Given the description of an element on the screen output the (x, y) to click on. 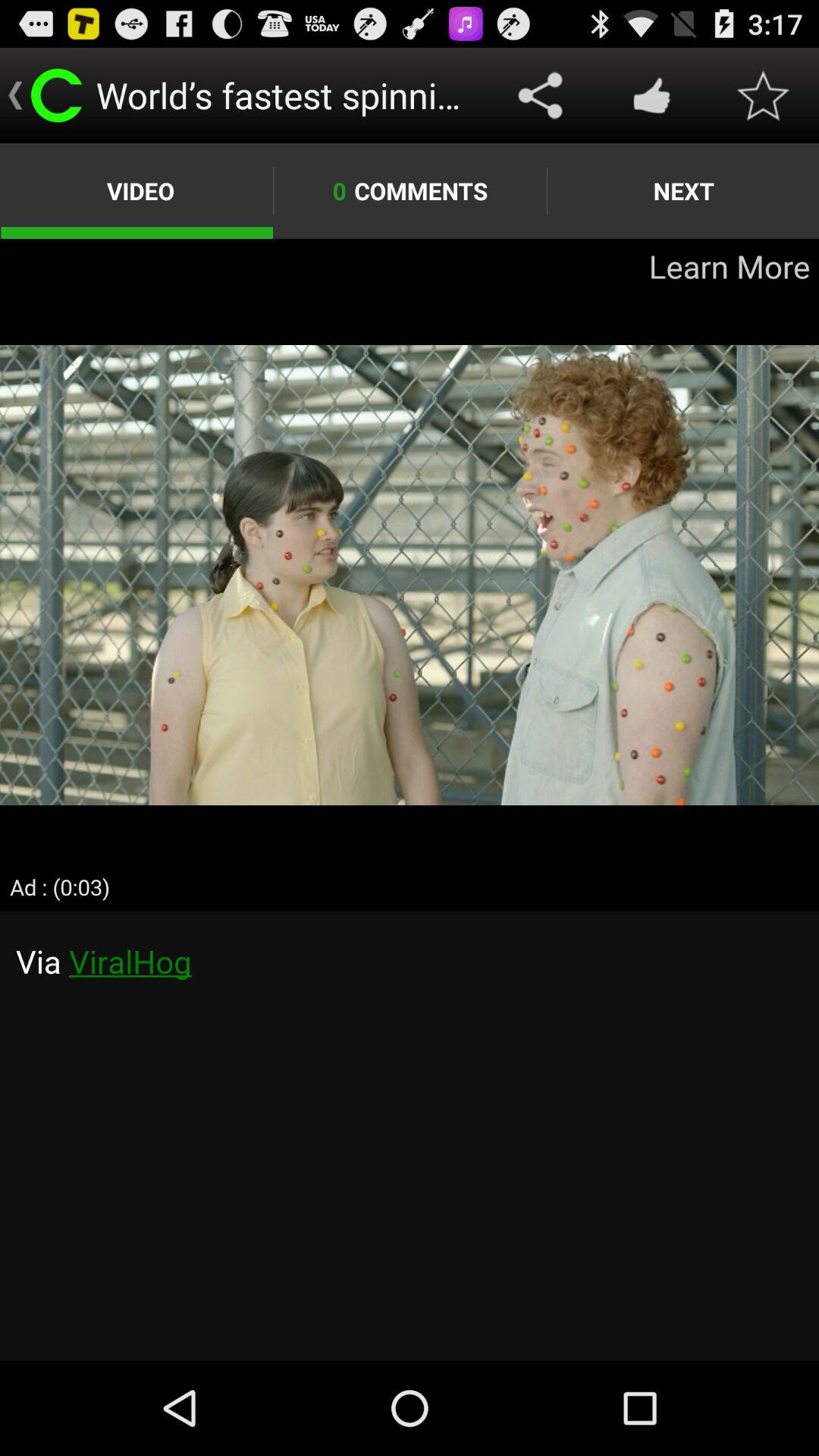
open advertisement (409, 574)
